Given the description of an element on the screen output the (x, y) to click on. 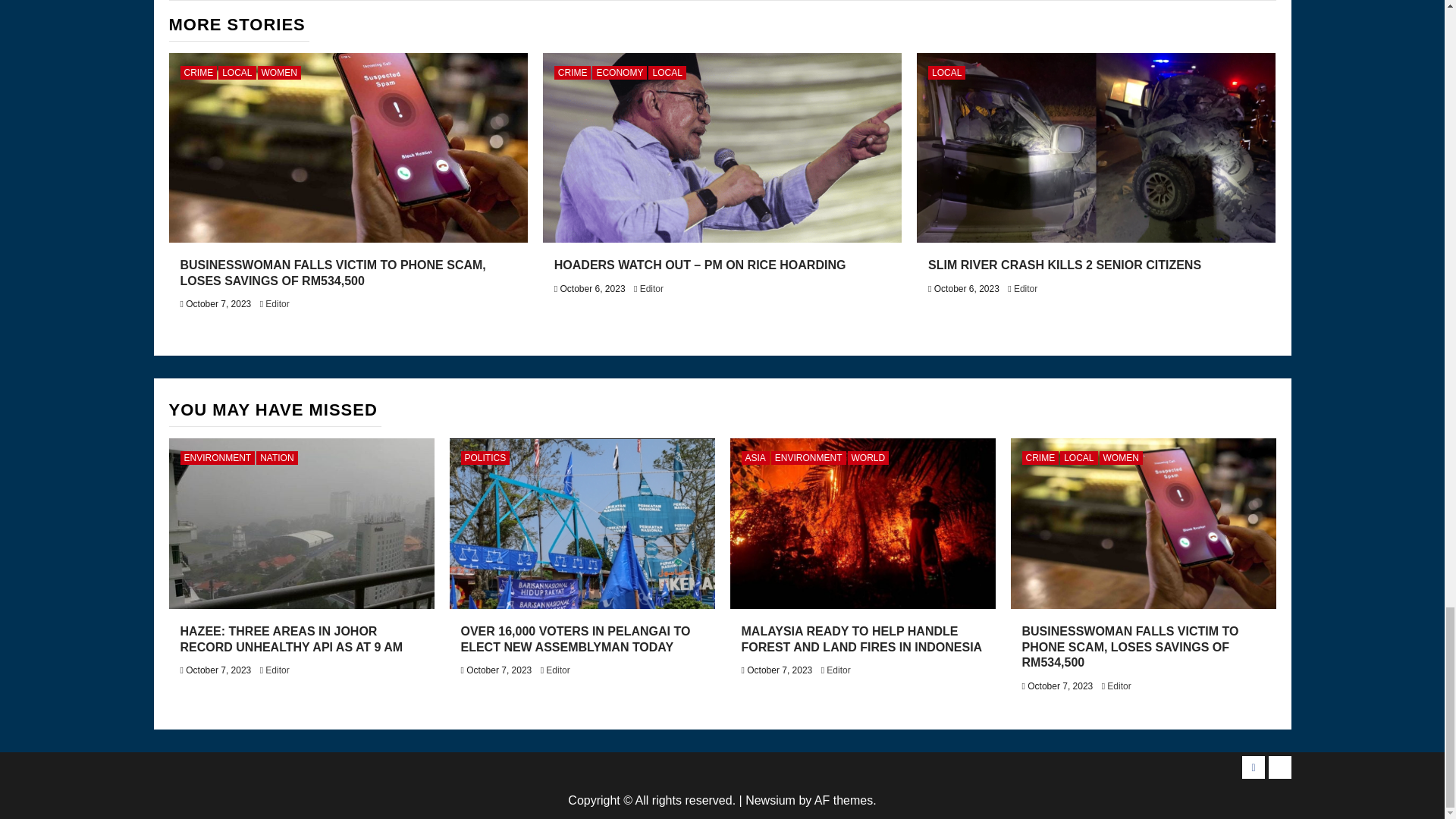
WOMEN (279, 72)
CRIME (198, 72)
LOCAL (237, 72)
